Given the description of an element on the screen output the (x, y) to click on. 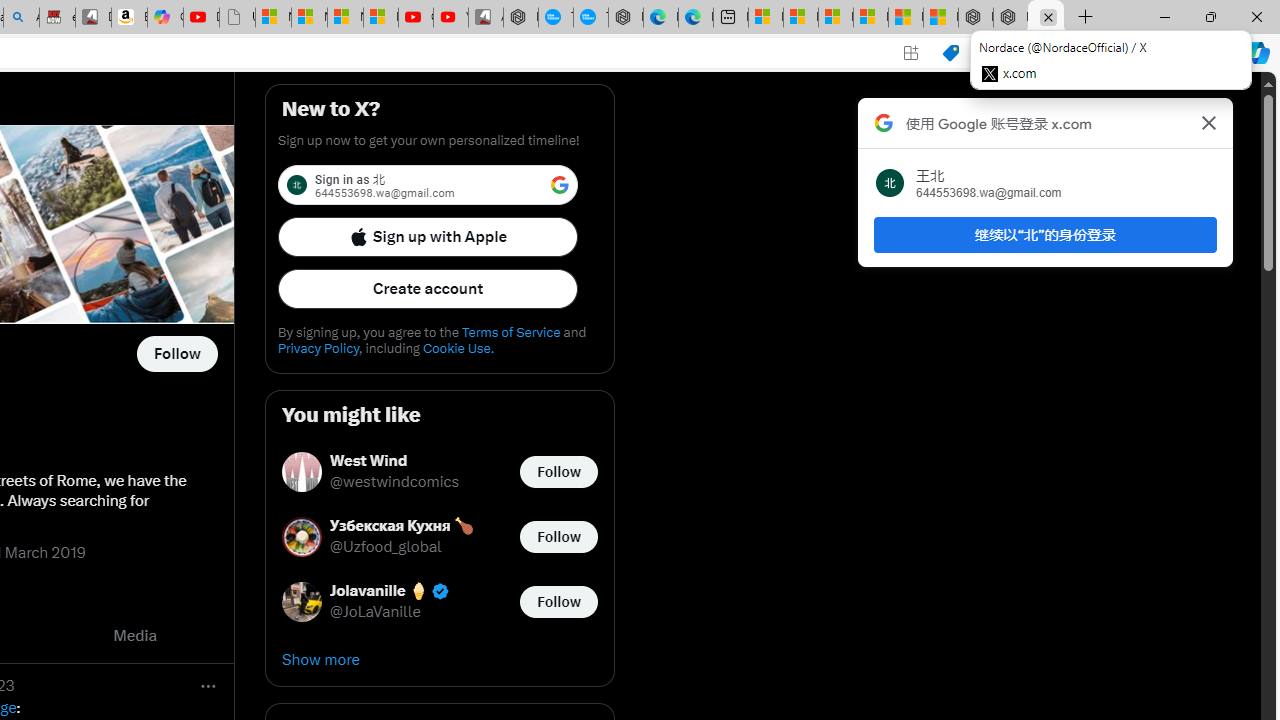
More (207, 685)
Cookie Use. (458, 348)
Next (212, 636)
Shopping in Microsoft Edge (950, 53)
Follow @Uzfood_global (558, 535)
Nordace - Summer Adventures 2024 (1010, 17)
@Uzfood_global (386, 547)
Show more (440, 660)
Follow @NordaceOfficial (176, 354)
